Given the description of an element on the screen output the (x, y) to click on. 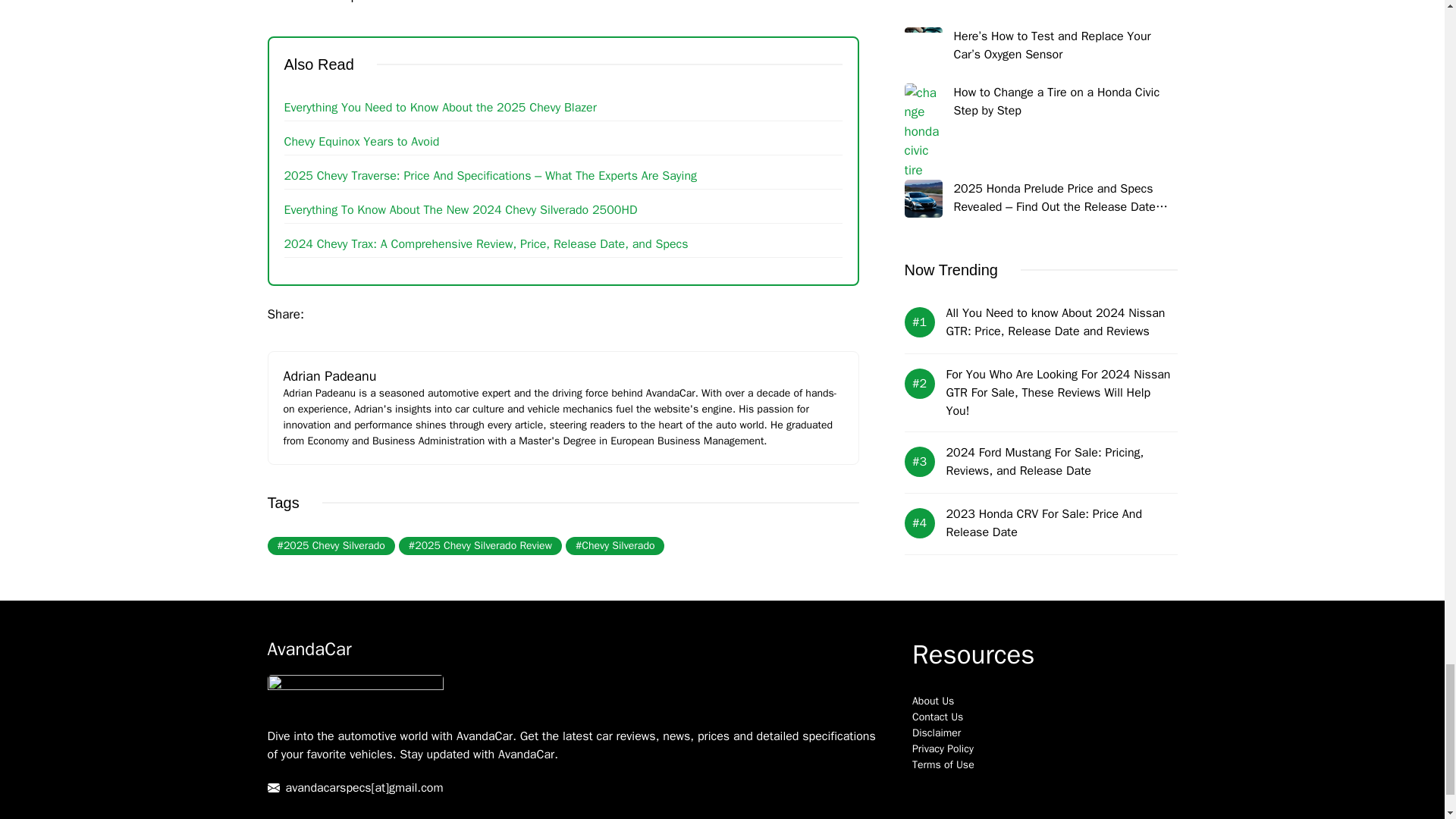
Everything To Know About The New 2024 Chevy Silverado 2500HD (460, 209)
Chevy Equinox Years to Avoid (361, 141)
Everything You Need to Know About the 2025 Chevy Blazer (439, 107)
